Given the description of an element on the screen output the (x, y) to click on. 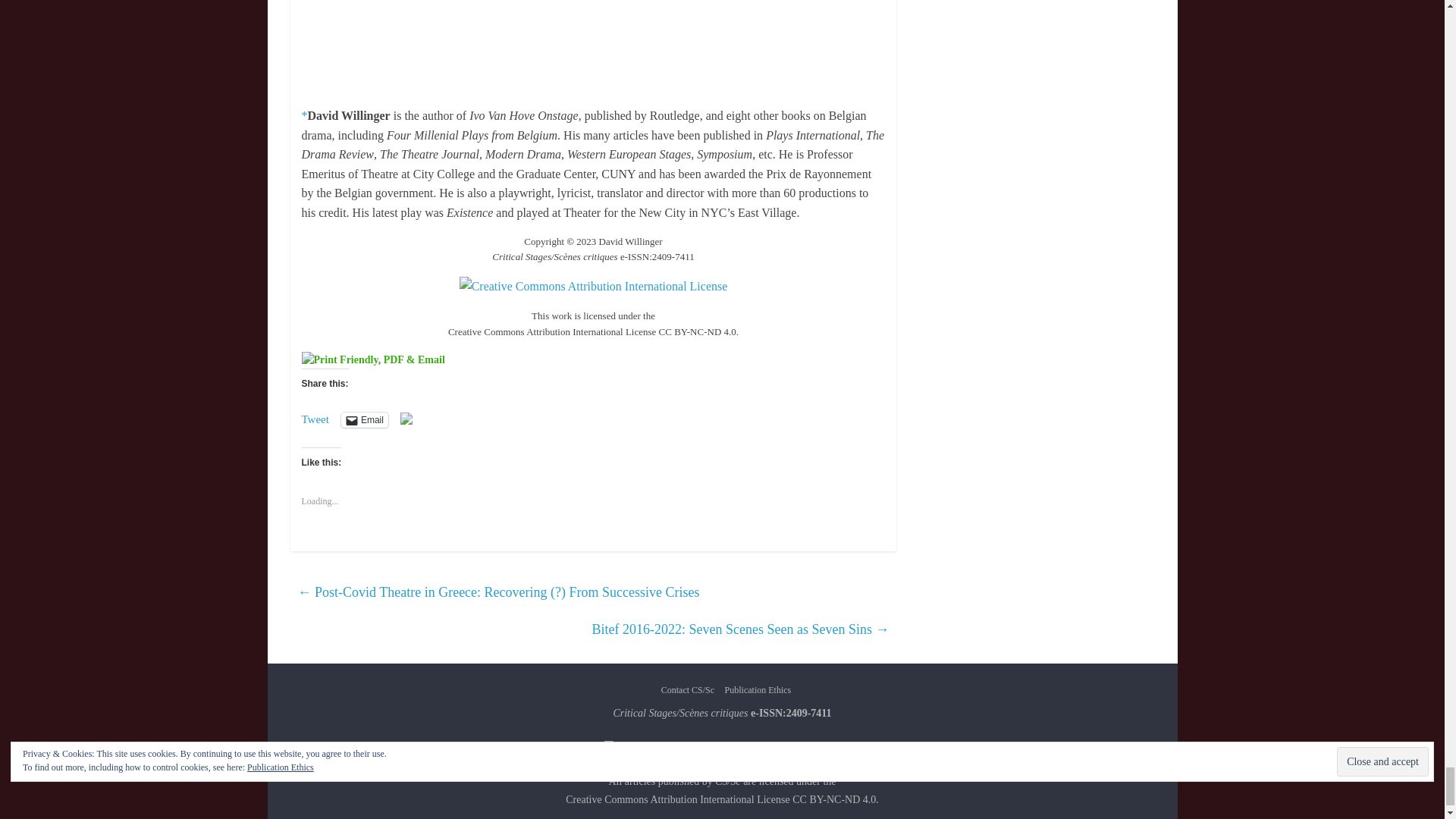
Tweet (315, 418)
Click to email a link to a friend (364, 419)
Email (364, 419)
